Given the description of an element on the screen output the (x, y) to click on. 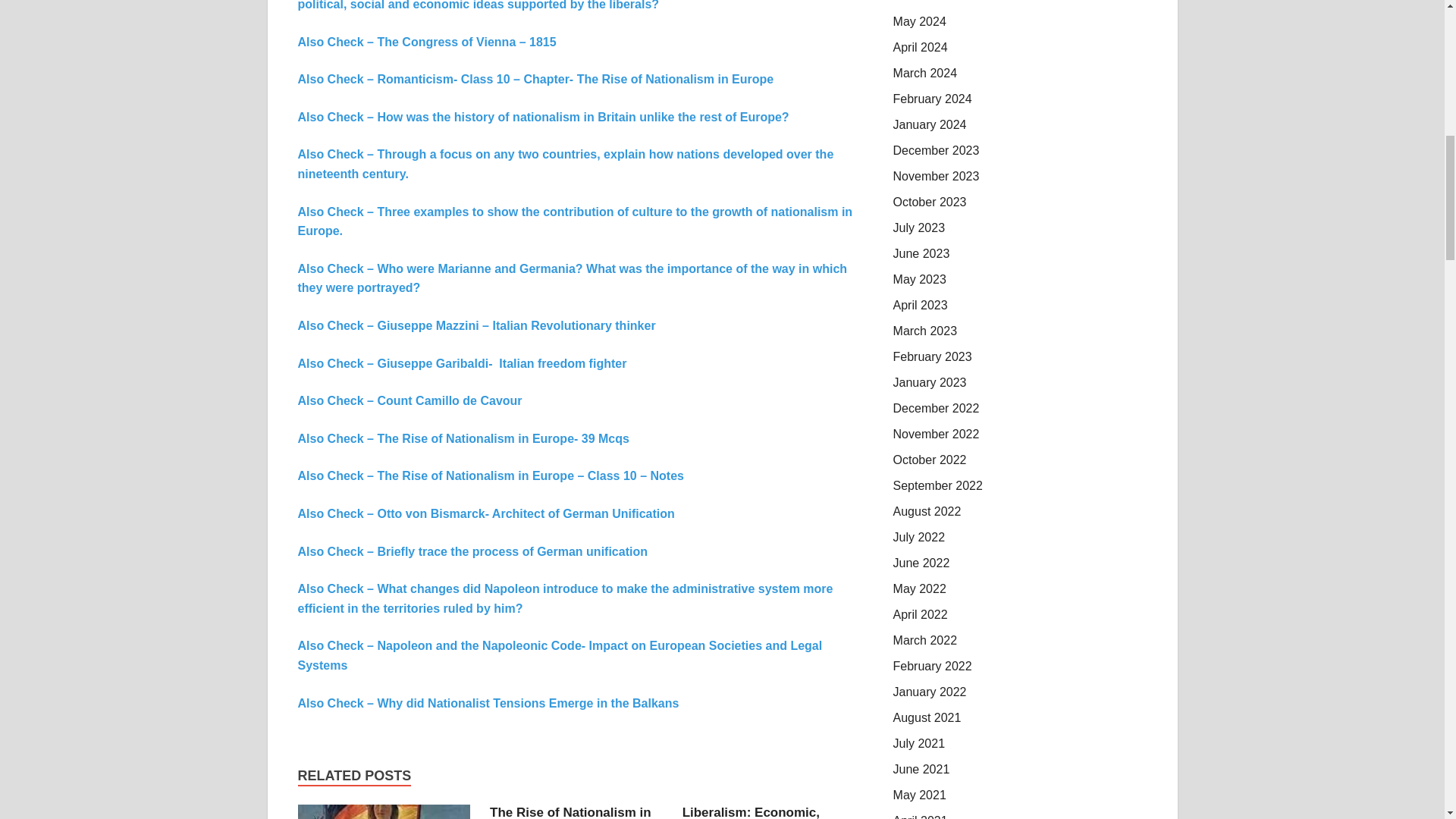
Liberalism: Economic, Political and Social Perspectives (750, 812)
The Rise of Nationalism in Europe- 40 Extra Question Answer (570, 812)
